Given the description of an element on the screen output the (x, y) to click on. 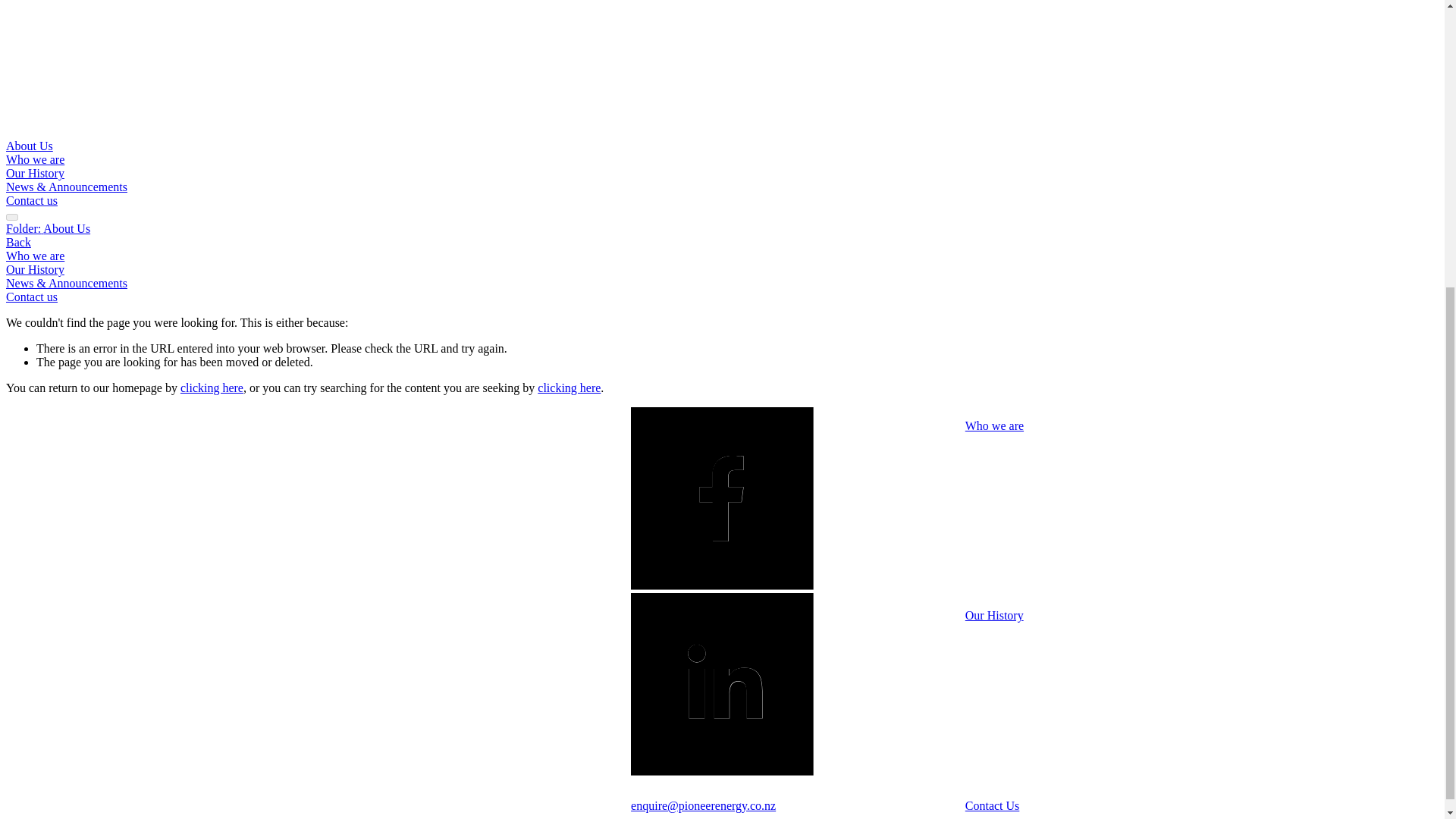
clicking here (568, 387)
Our History (34, 173)
Contact us (31, 200)
clicking here (211, 387)
Contact Us (992, 805)
Contact us (31, 296)
Back (17, 241)
About Us (28, 145)
Who we are (994, 425)
Our History (994, 615)
Who we are (34, 159)
